Given the description of an element on the screen output the (x, y) to click on. 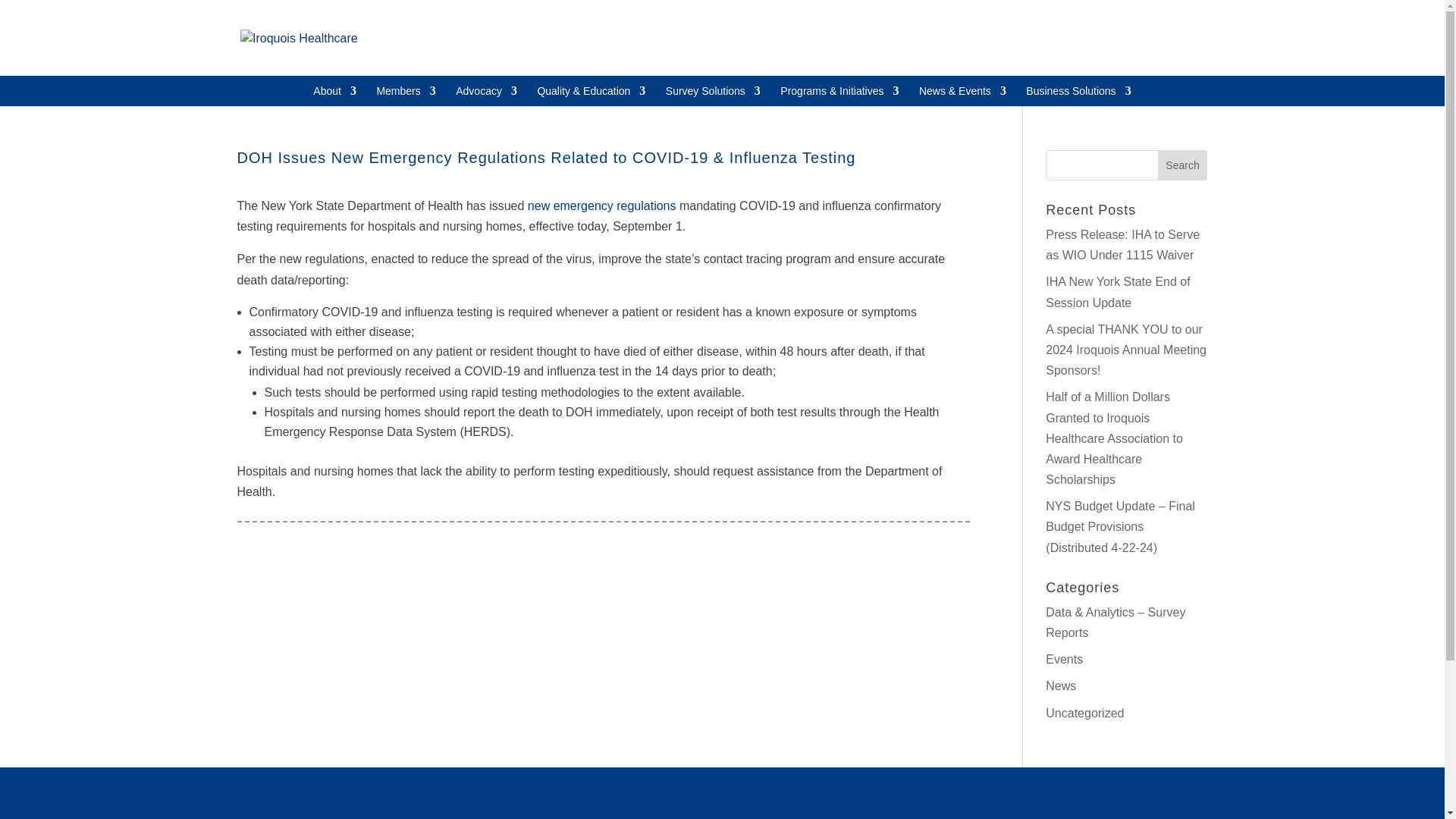
Members (405, 101)
Business Solutions (1078, 101)
Advocacy (485, 101)
About (334, 101)
Search (1182, 164)
Survey Solutions (712, 101)
